Given the description of an element on the screen output the (x, y) to click on. 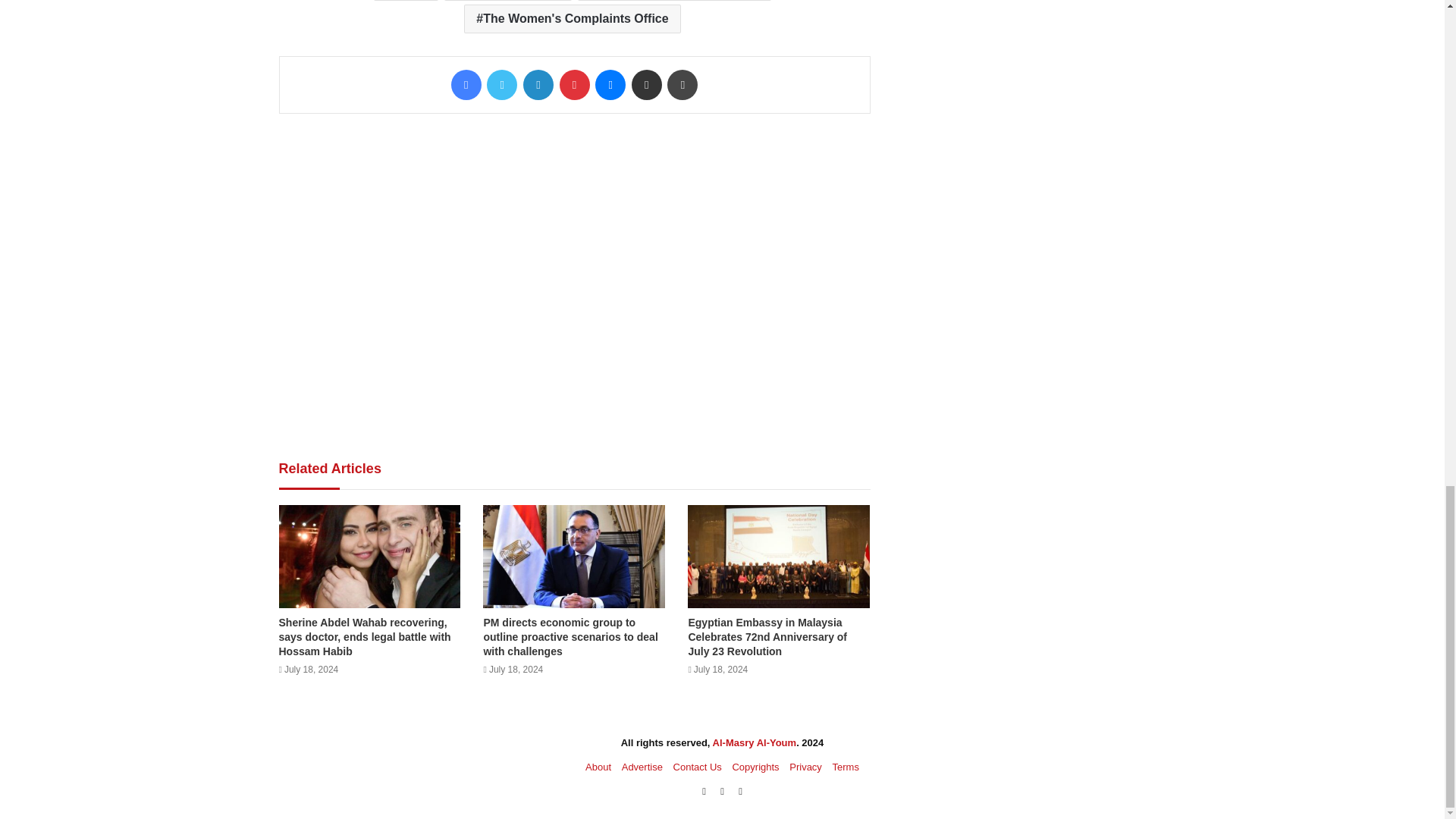
The Women's Complaints Office (571, 18)
Messenger (610, 84)
Messenger (610, 84)
Share via Email (646, 84)
LinkedIn (537, 84)
Pinterest (574, 84)
Facebook (466, 84)
Egypt (406, 0)
LinkedIn (537, 84)
Twitter (501, 84)
Facebook (466, 84)
Twitter (501, 84)
Pinterest (574, 84)
